Given the description of an element on the screen output the (x, y) to click on. 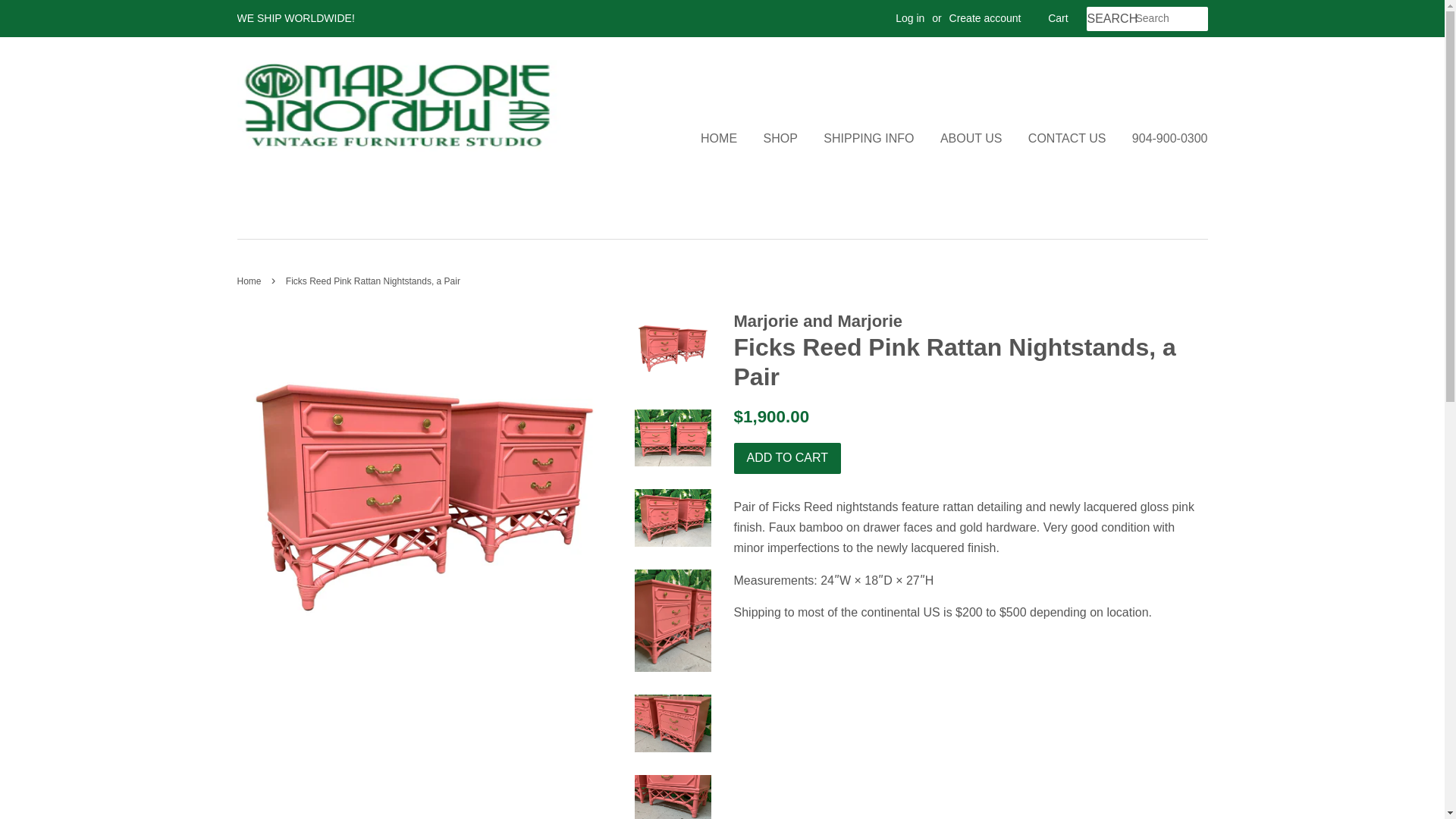
SEARCH (1110, 18)
Back to the frontpage (249, 281)
HOME (724, 138)
Cart (1057, 18)
Log in (909, 18)
Create account (985, 18)
SHOP (780, 138)
